Given the description of an element on the screen output the (x, y) to click on. 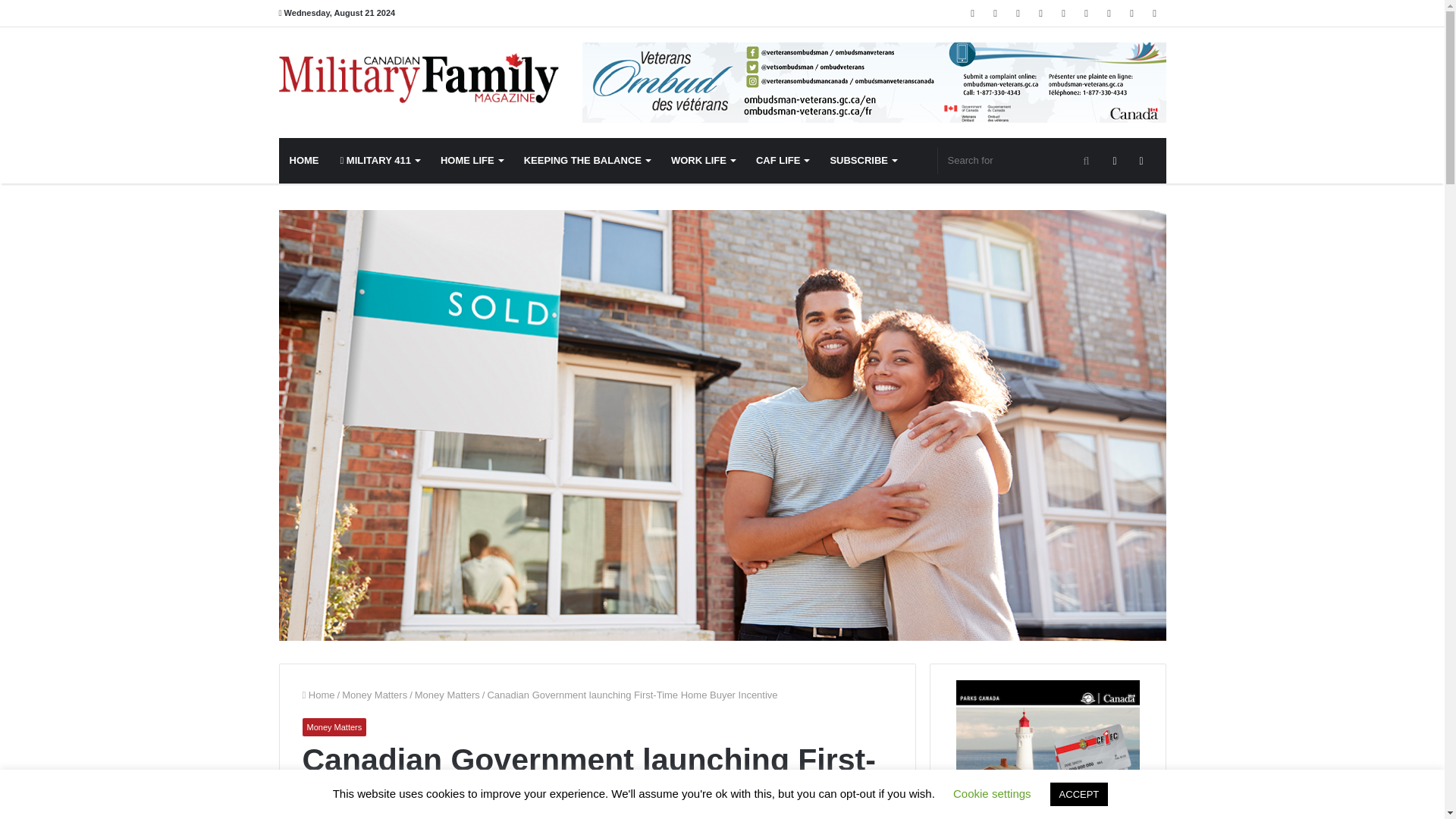
KEEPING THE BALANCE (587, 160)
HOME (304, 160)
HOME LIFE (471, 160)
MILITARY 411 (379, 160)
Search for (1018, 160)
Canadian Military Family Magazine (419, 78)
WORK LIFE (703, 160)
